Given the description of an element on the screen output the (x, y) to click on. 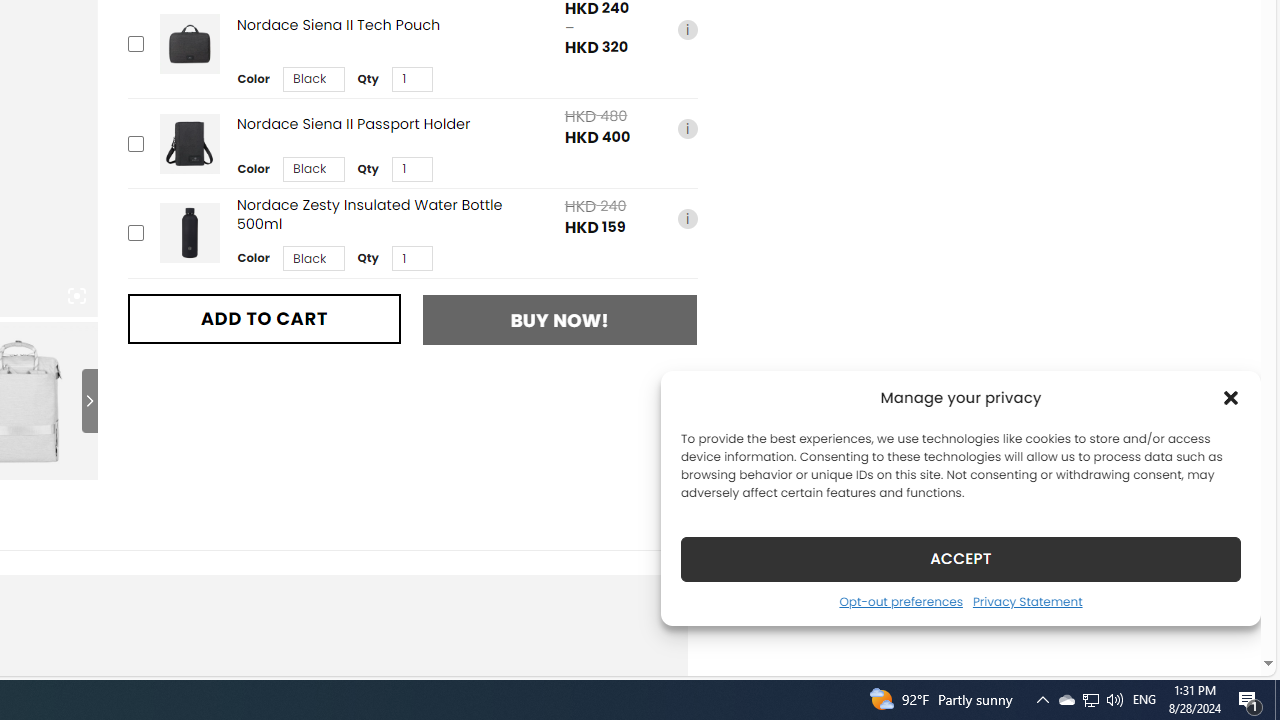
Add this product to cart (134, 232)
Class: cmplz-close (1231, 397)
Opt-out preferences (900, 601)
Nordace Siena II Tech Pouch (189, 43)
BUY NOW! (559, 320)
Nordace Siena II Passport Holder (189, 143)
ADD TO CART (263, 318)
Class: iconic-woothumbs-fullscreen (75, 296)
Class: upsell-v2-product-upsell-variable-product-qty-select (411, 259)
i (687, 218)
ACCEPT (960, 558)
Privacy Statement (1026, 601)
Nordace Zesty Insulated Water Bottle 500ml (189, 233)
